Given the description of an element on the screen output the (x, y) to click on. 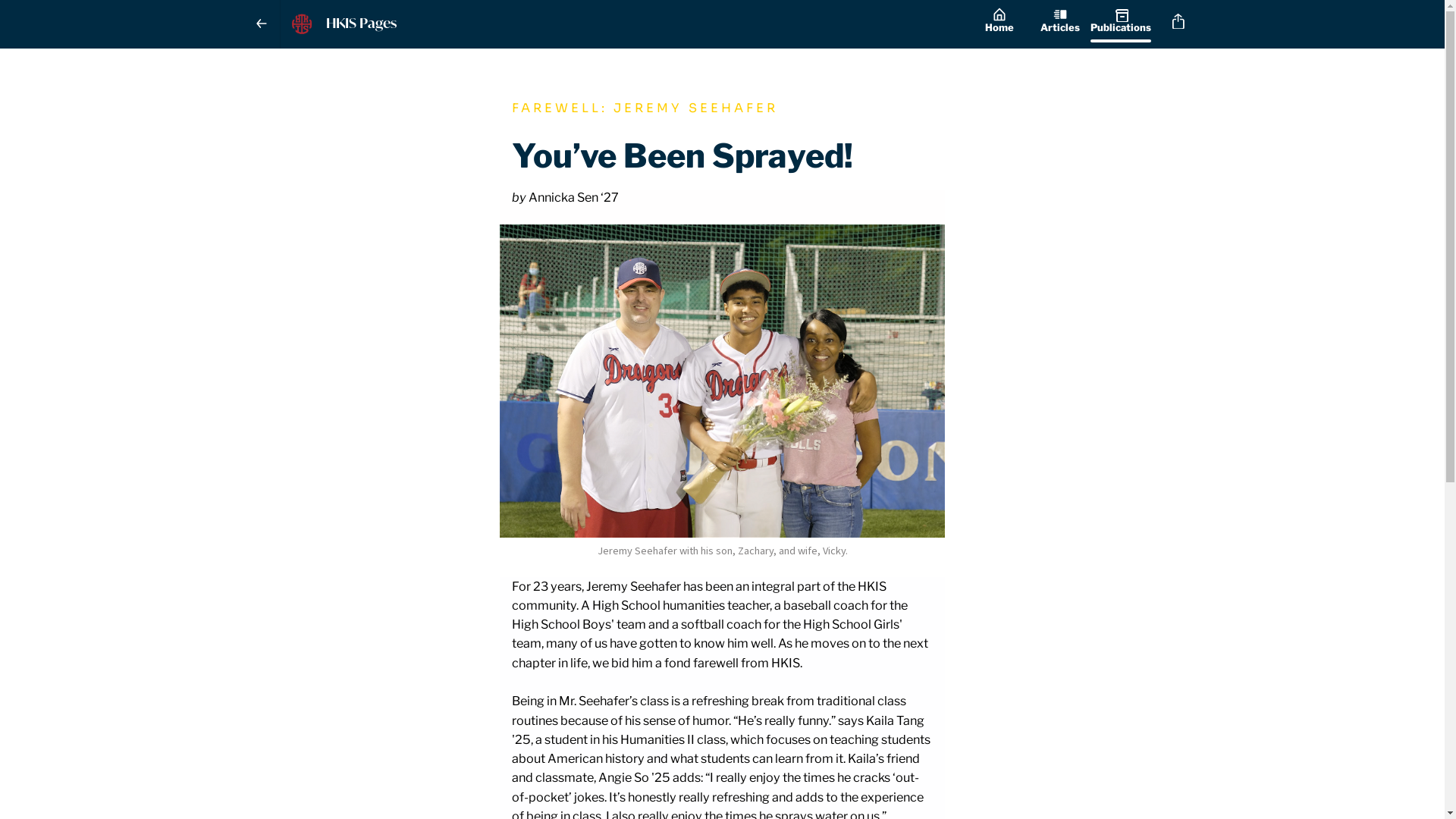
Articles (1059, 24)
HKIS Pages (624, 24)
Home (999, 24)
Publications (1120, 24)
